Given the description of an element on the screen output the (x, y) to click on. 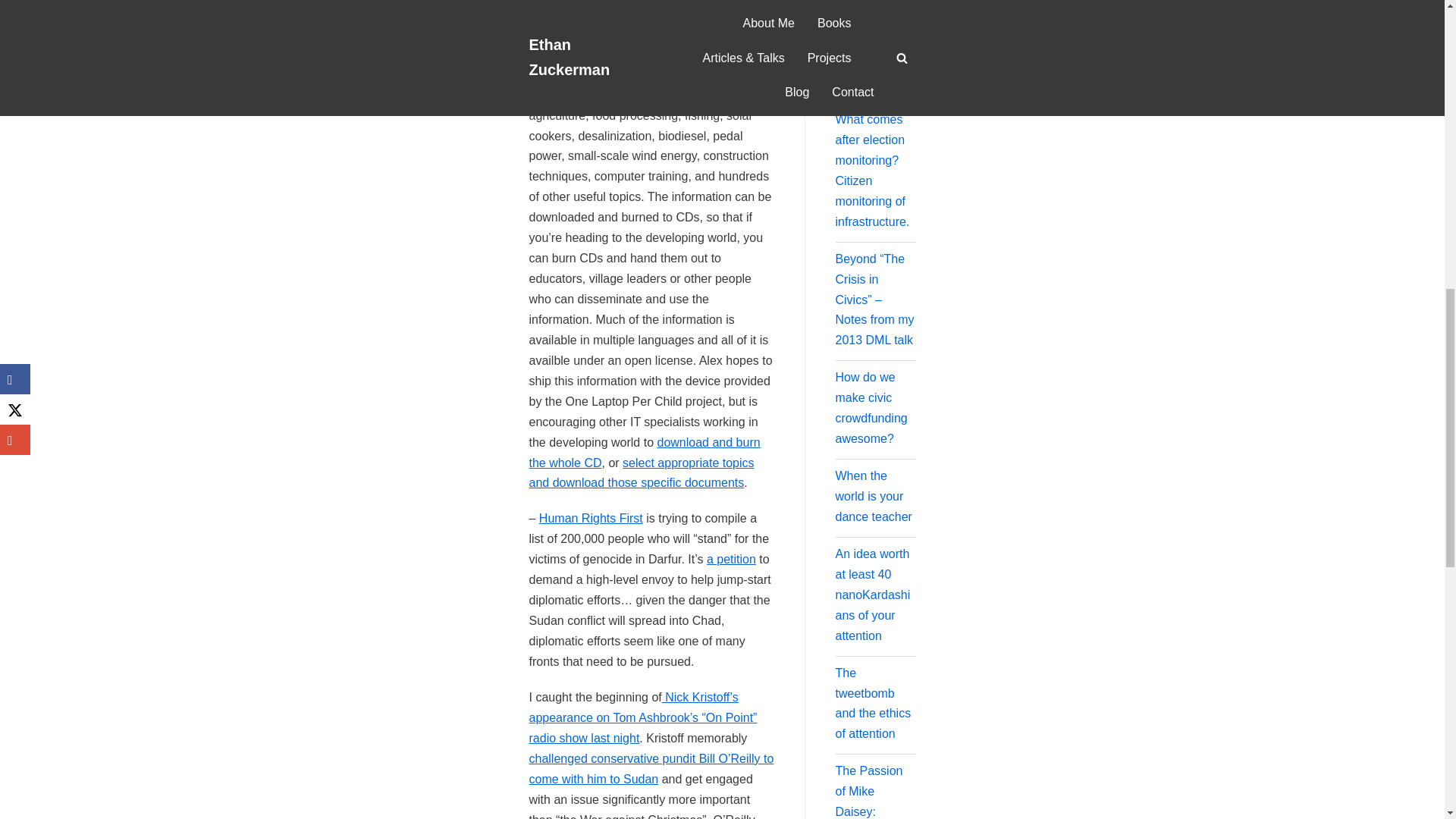
a petition (730, 558)
Human Rights First (590, 517)
public domain information (652, 94)
download and burn the whole CD (644, 452)
